Given the description of an element on the screen output the (x, y) to click on. 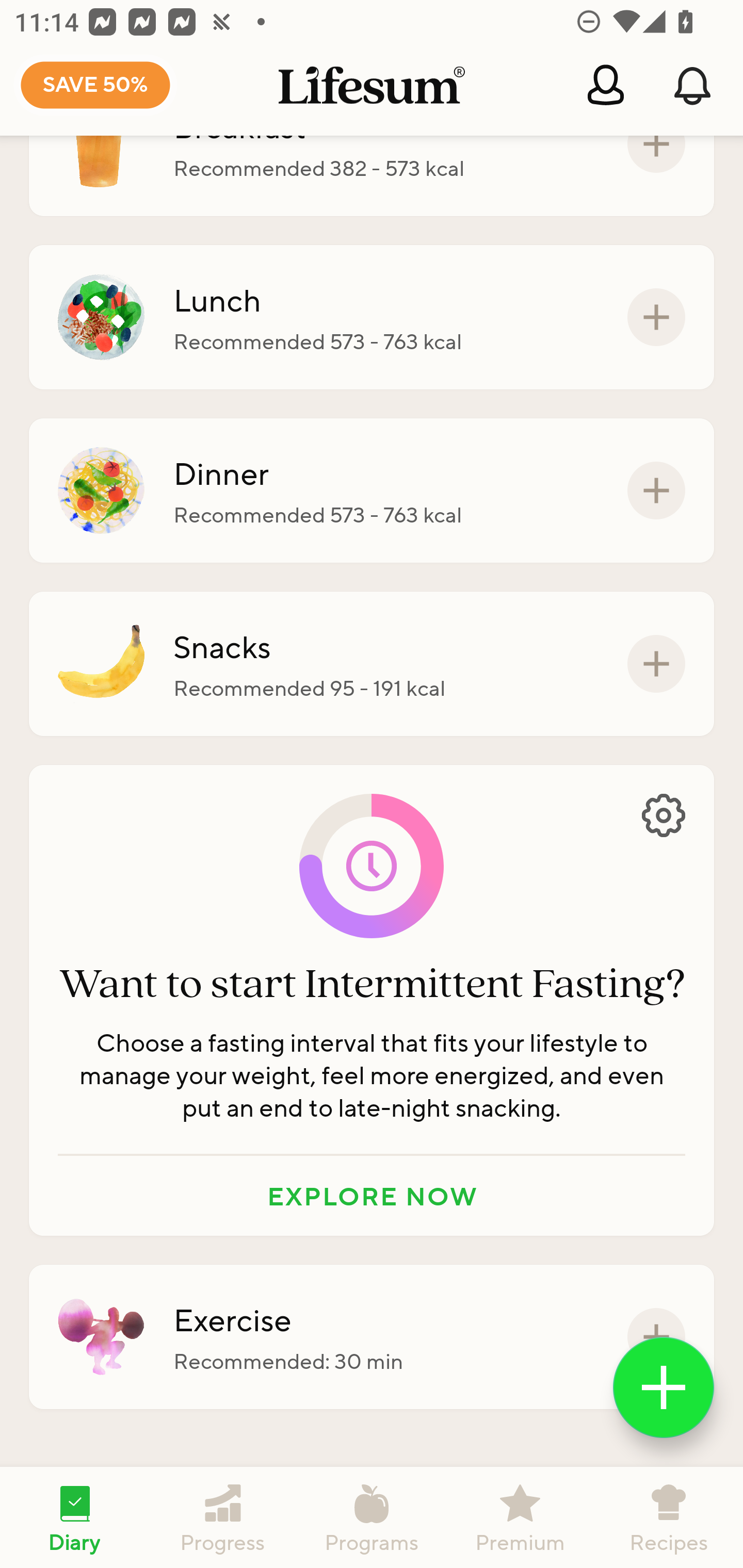
Lunch Recommended 573 - 763 kcal (371, 316)
Dinner Recommended 573 - 763 kcal (371, 490)
Snacks Recommended 95 - 191 kcal (371, 663)
EXPLORE NOW (371, 1195)
Exercise Recommended: 30 min (371, 1337)
Progress (222, 1517)
Programs (371, 1517)
Premium (519, 1517)
Recipes (668, 1517)
